Given the description of an element on the screen output the (x, y) to click on. 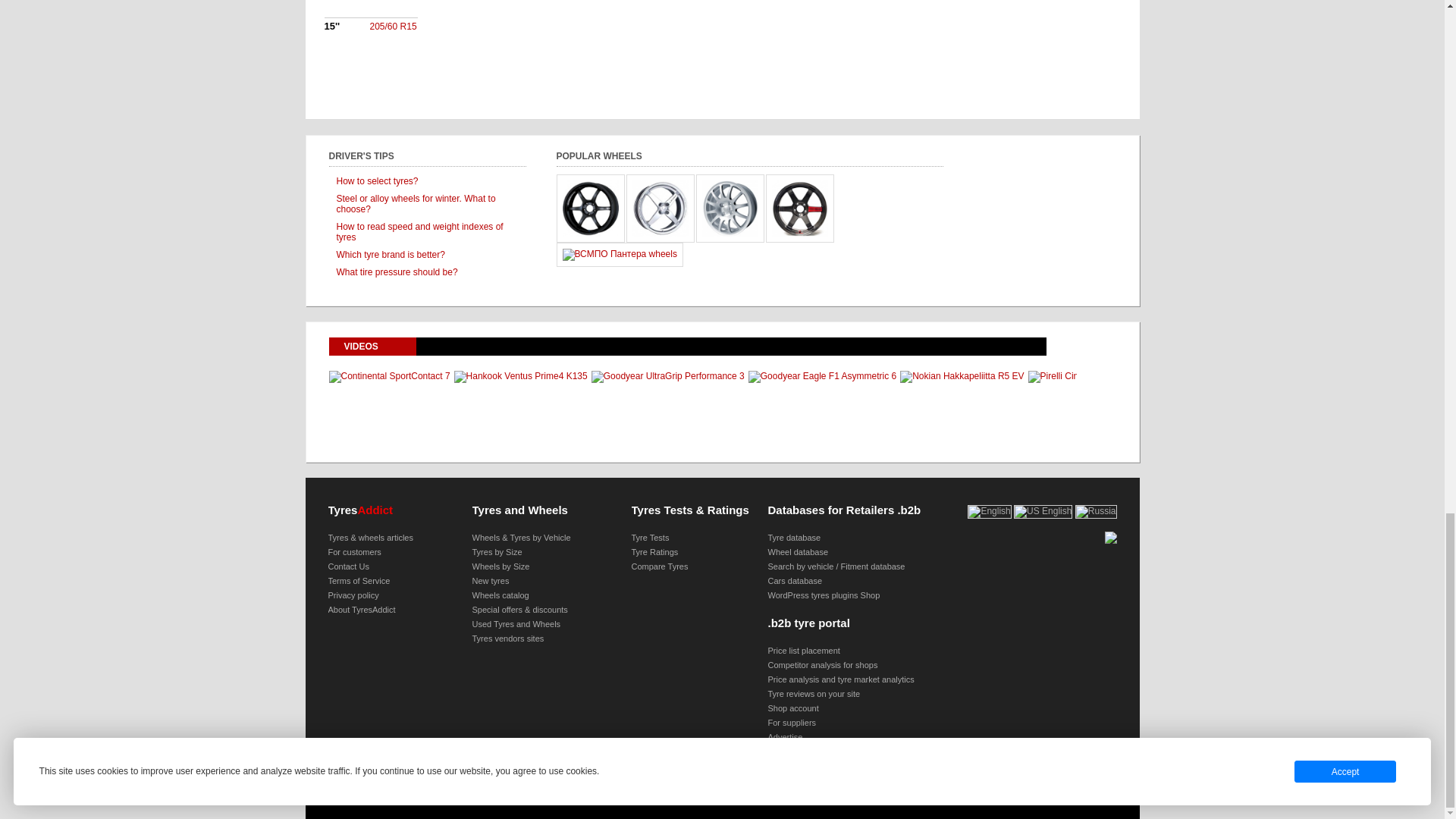
Hankook Ventus Prime4 K135 (521, 376)
Advan Racing RG-D wheels (590, 207)
Volk Racing TE37SL wheels (799, 207)
Goodyear UltraGrip Performance 3 (667, 376)
Lenso Maglite wheels (660, 207)
Continental SportContact 7 (389, 376)
